Given the description of an element on the screen output the (x, y) to click on. 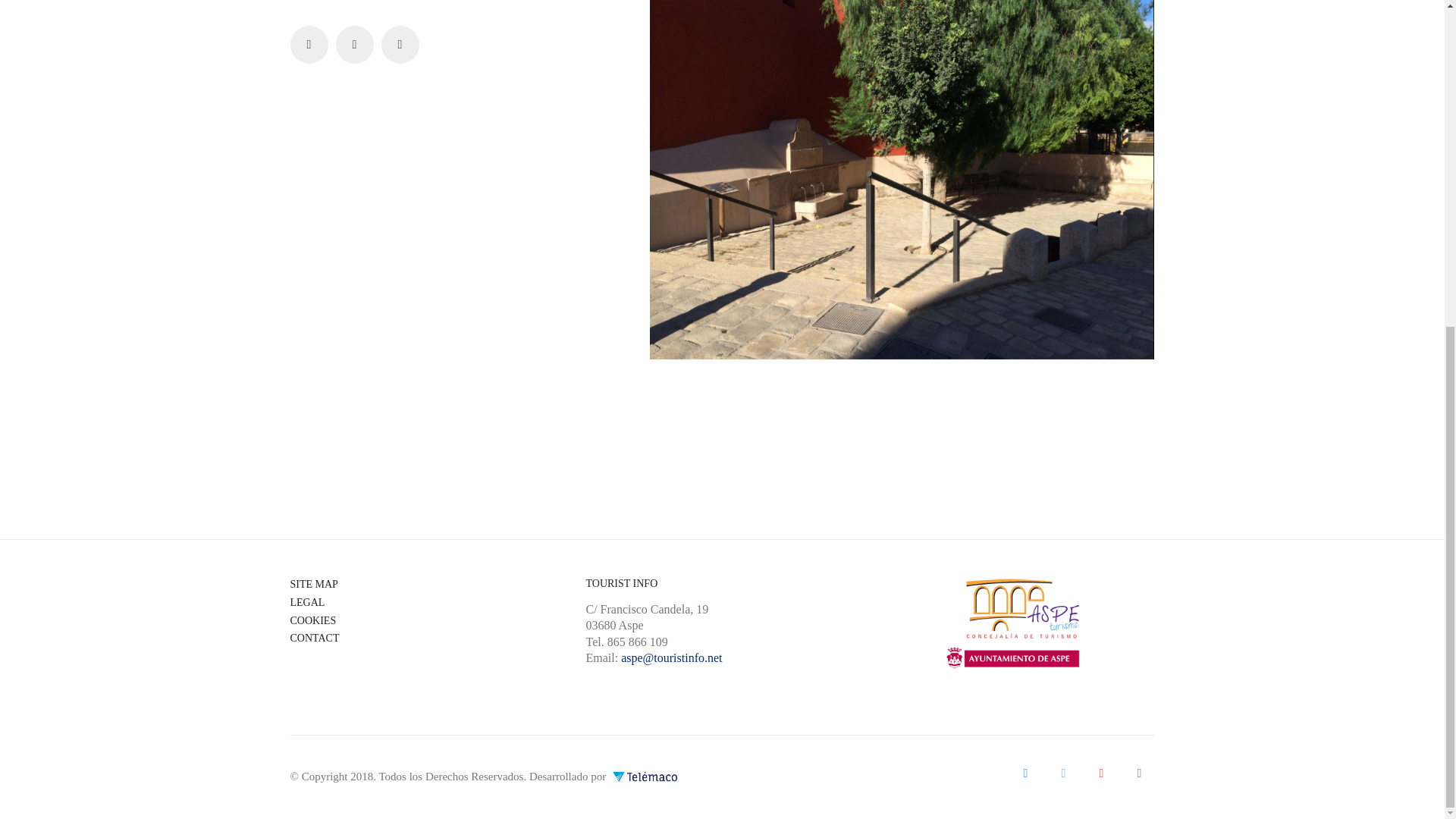
Twitter (1063, 772)
Email (1139, 772)
Facebook (1025, 772)
YouTube (1101, 772)
